Given the description of an element on the screen output the (x, y) to click on. 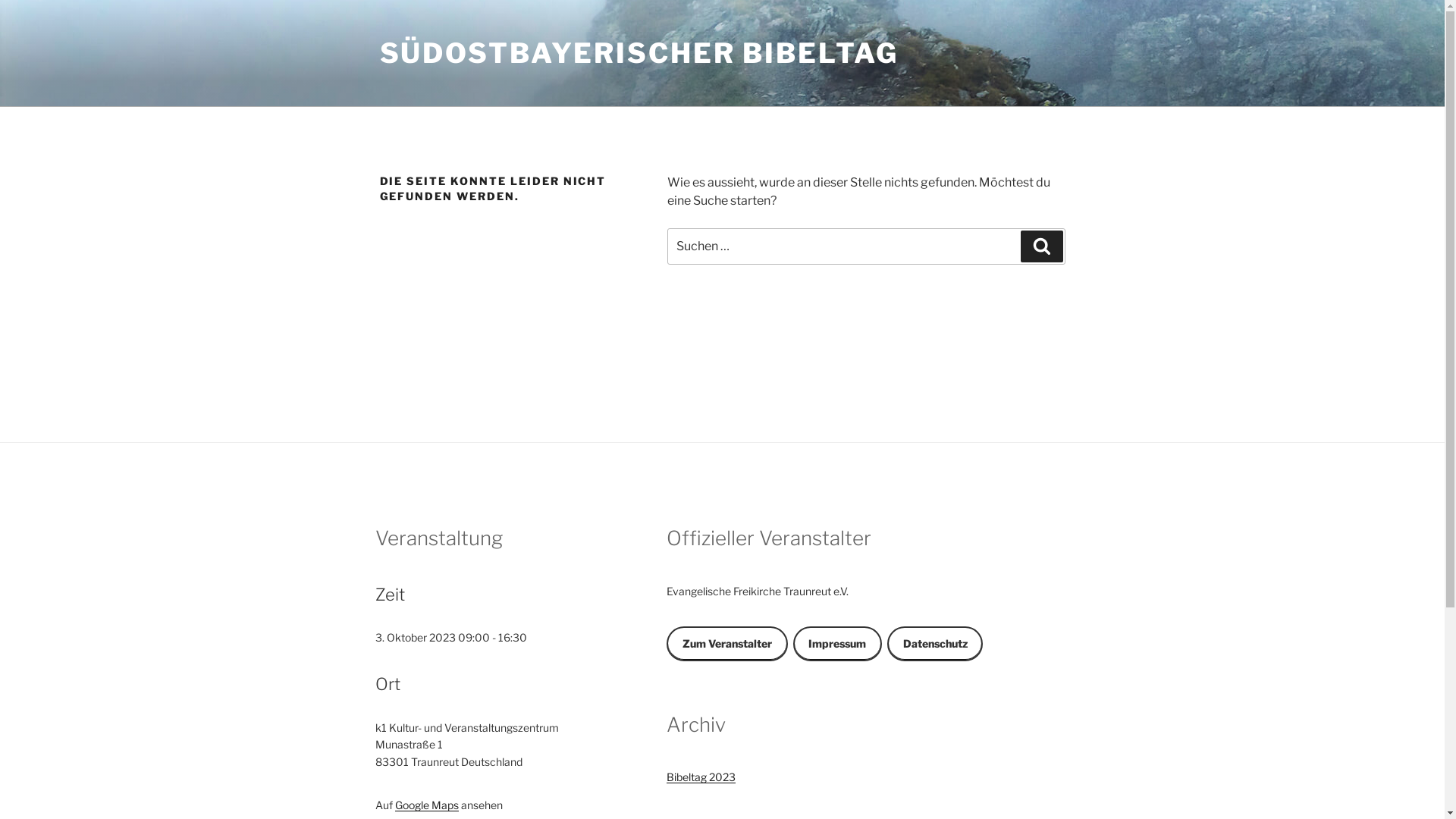
Suchen Element type: text (1041, 246)
Bibeltag 2023 Element type: text (700, 776)
Zum Veranstalter Element type: text (726, 643)
Google Maps Element type: text (426, 804)
Datenschutz Element type: text (934, 643)
Impressum Element type: text (837, 643)
